Given the description of an element on the screen output the (x, y) to click on. 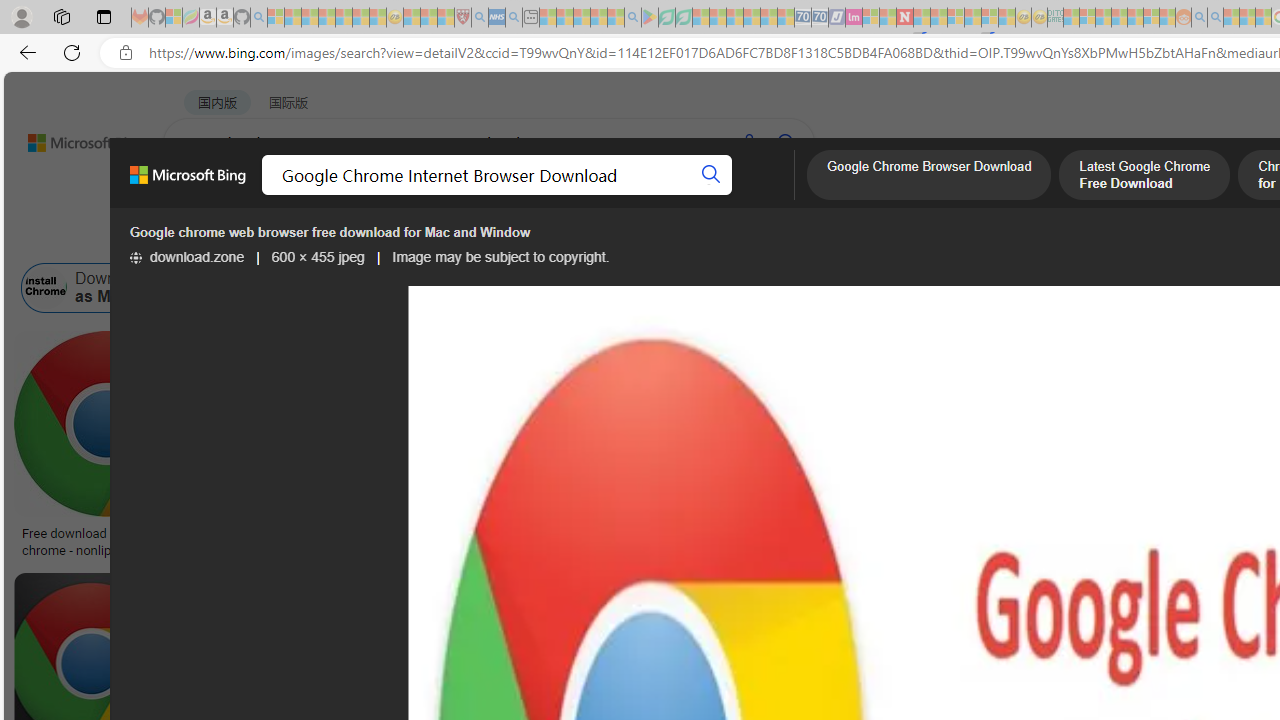
Free download google chrome - nonlipatSave (110, 448)
Google Chrome Web Browser Free Download (542, 287)
Image result for Google Chrome Internet Browser Download (965, 423)
License (664, 237)
Dropdown Menu (793, 195)
Google Chrome Search Browser (846, 287)
